Given the description of an element on the screen output the (x, y) to click on. 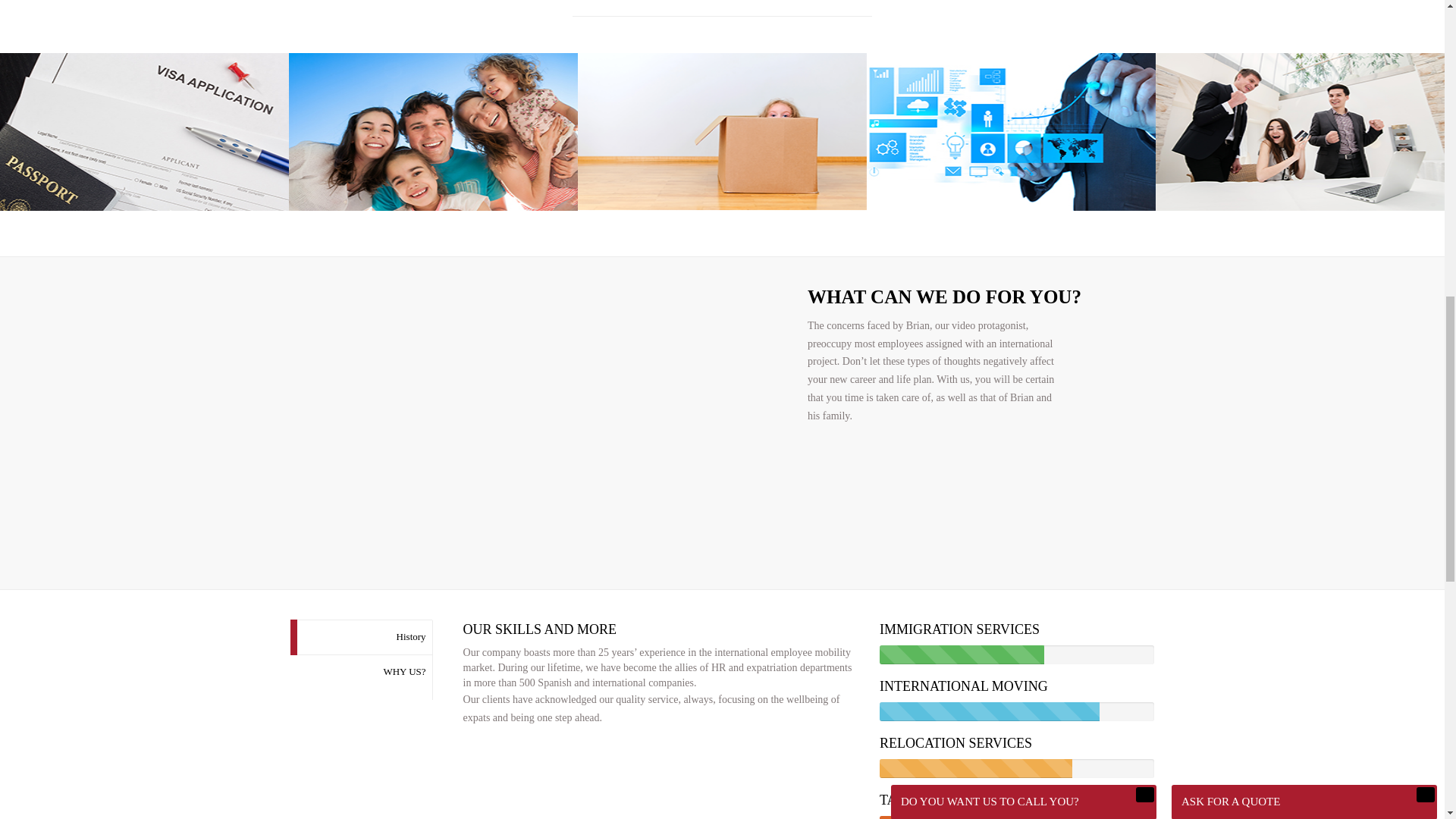
SUBMIT (964, 98)
SUBMIT (1245, 257)
Promotional Code (1298, 117)
